Given the description of an element on the screen output the (x, y) to click on. 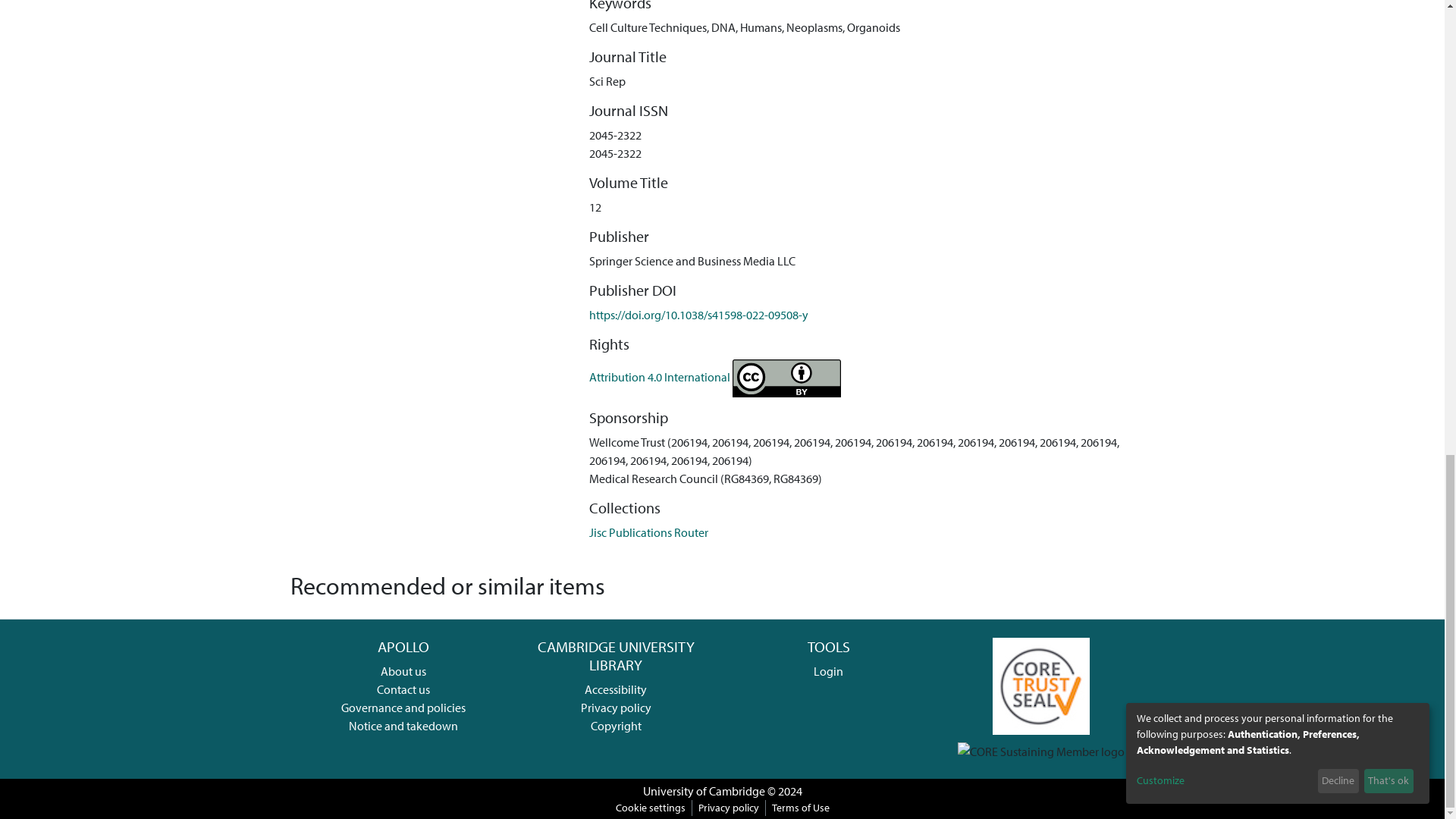
About us (403, 670)
Apollo CTS full application (1040, 683)
Attribution 4.0 International (715, 376)
Jisc Publications Router (648, 531)
